Given the description of an element on the screen output the (x, y) to click on. 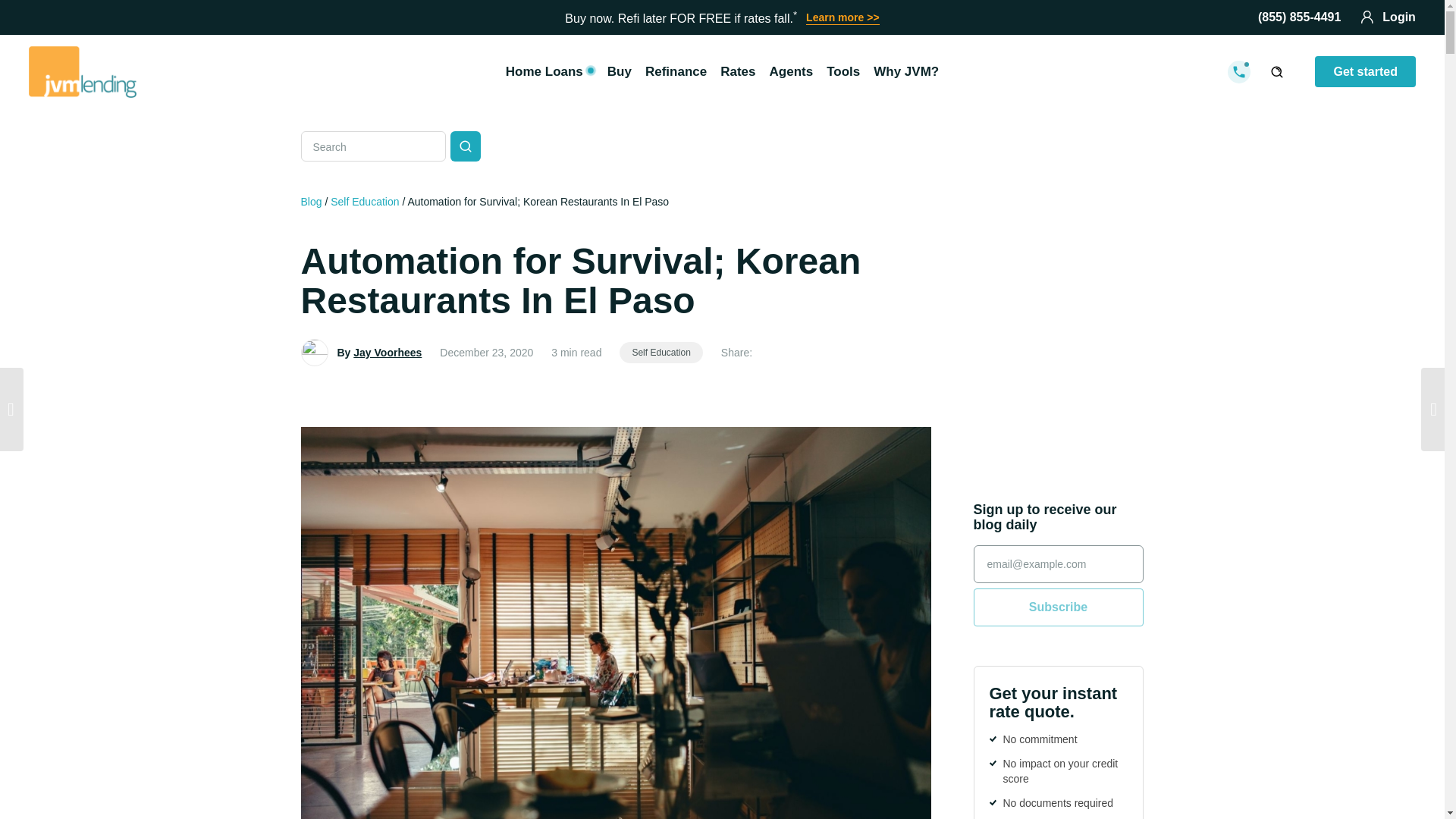
Subscribe (1058, 607)
Phone (1298, 17)
Home Loans (549, 71)
Login (1388, 17)
Refinance (676, 71)
Search (464, 146)
Login (1388, 17)
